Given the description of an element on the screen output the (x, y) to click on. 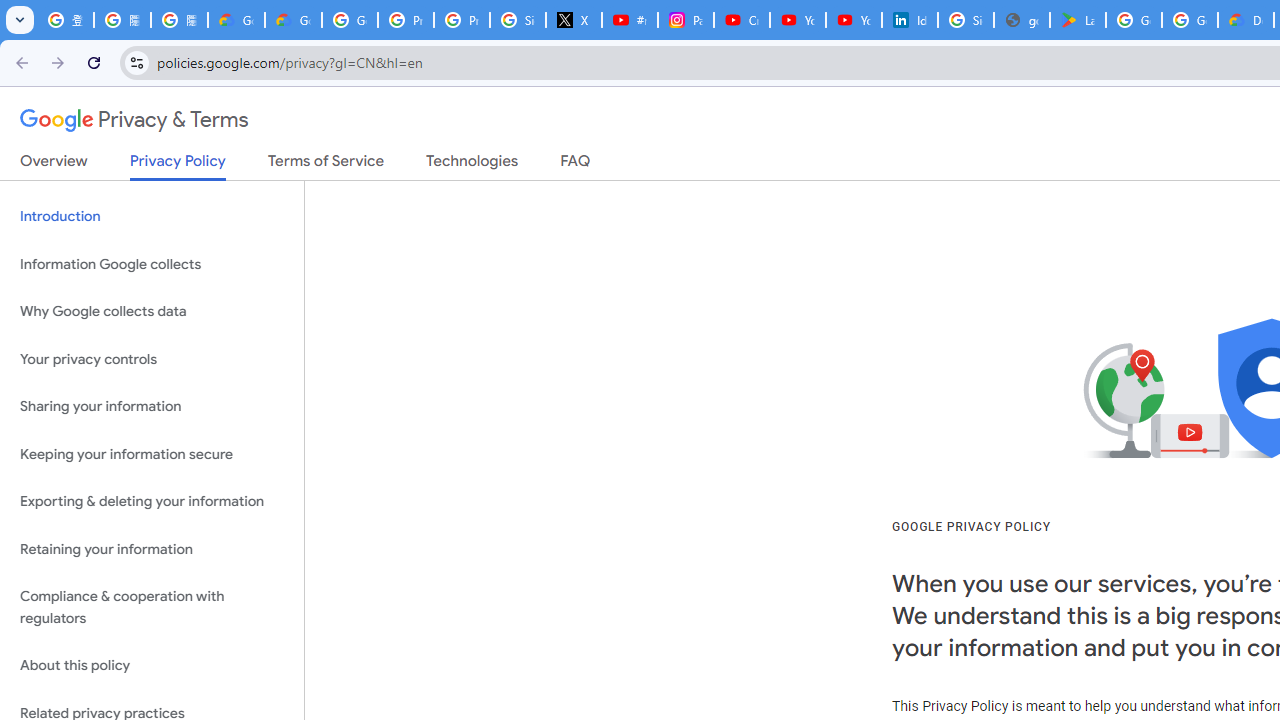
Keeping your information secure (152, 453)
FAQ (575, 165)
Terms of Service (326, 165)
Retaining your information (152, 548)
Compliance & cooperation with regulators (152, 607)
Introduction (152, 216)
View site information (136, 62)
X (573, 20)
